Given the description of an element on the screen output the (x, y) to click on. 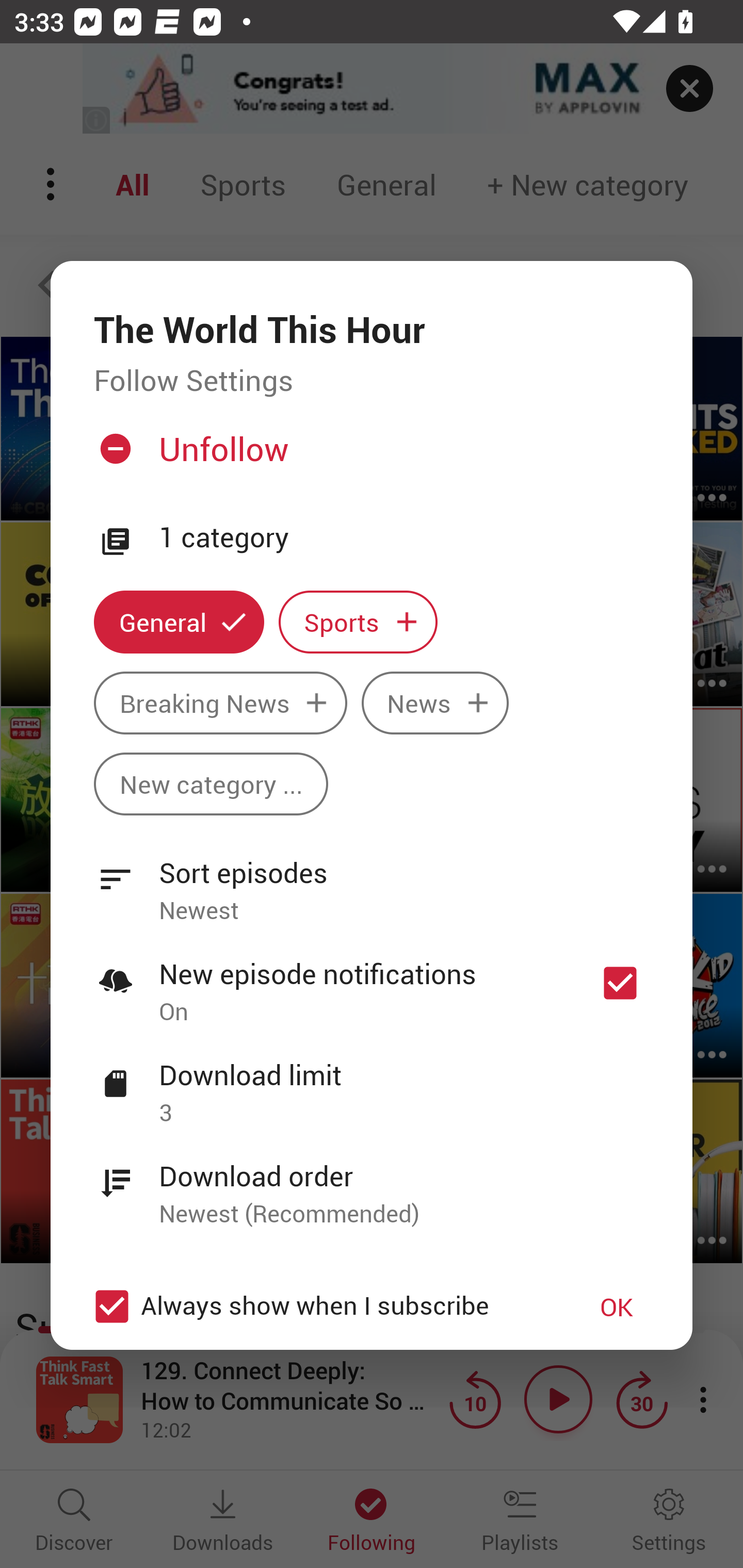
Unfollow (369, 456)
1 category (404, 537)
General (178, 622)
Sports (357, 622)
Breaking News (219, 702)
News (434, 702)
New category ... (210, 783)
Sort episodes Newest (371, 880)
New episode notifications (620, 982)
Download limit 3 (371, 1082)
Download order Newest (Recommended) (371, 1183)
OK (616, 1306)
Always show when I subscribe (320, 1306)
